Given the description of an element on the screen output the (x, y) to click on. 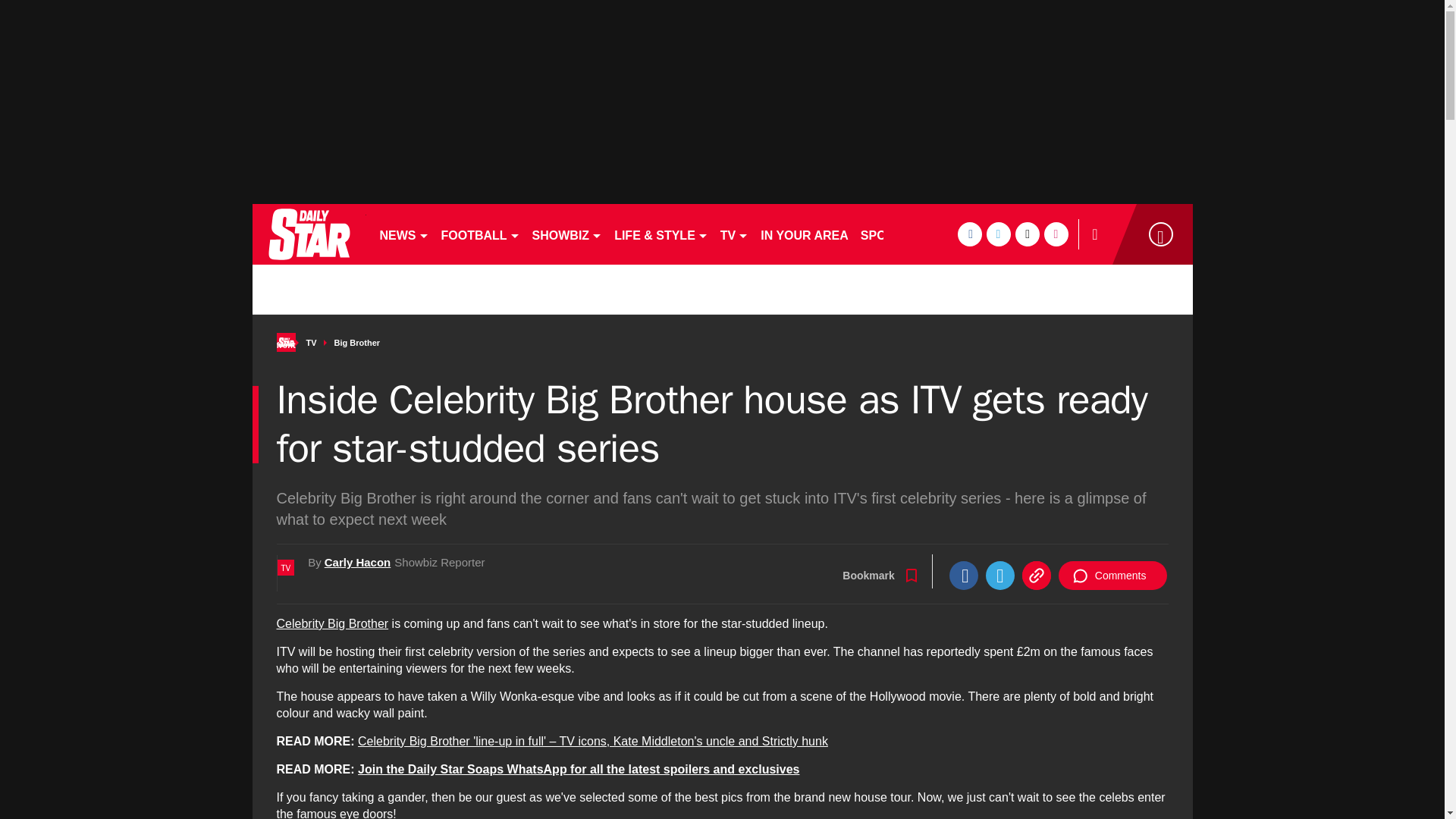
facebook (968, 233)
FOOTBALL (480, 233)
twitter (997, 233)
SHOWBIZ (566, 233)
Twitter (999, 575)
Facebook (963, 575)
dailystar (308, 233)
NEWS (402, 233)
instagram (1055, 233)
tiktok (1026, 233)
Comments (1112, 575)
TV (734, 233)
